Given the description of an element on the screen output the (x, y) to click on. 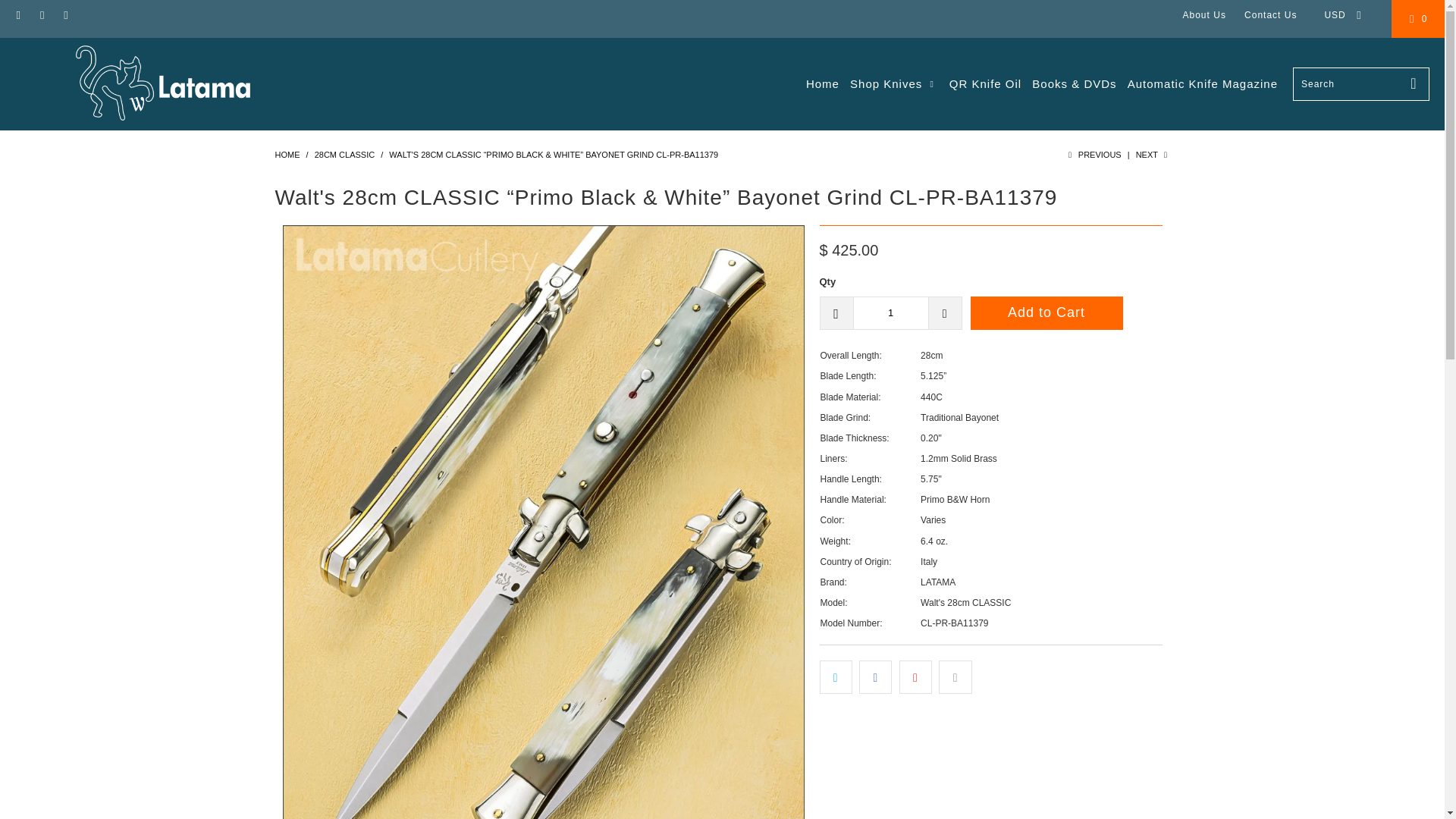
Share this on Twitter (834, 676)
Share this on Facebook (875, 676)
Email this to a friend (955, 676)
LATAMA on Facebook (17, 14)
LATAMA on Instagram (41, 14)
Previous (1092, 153)
Next (1152, 153)
28cm Classic (344, 153)
Email LATAMA (65, 14)
1 (889, 313)
Share this on Pinterest (915, 676)
LATAMA (287, 153)
LATAMA (162, 83)
